Given the description of an element on the screen output the (x, y) to click on. 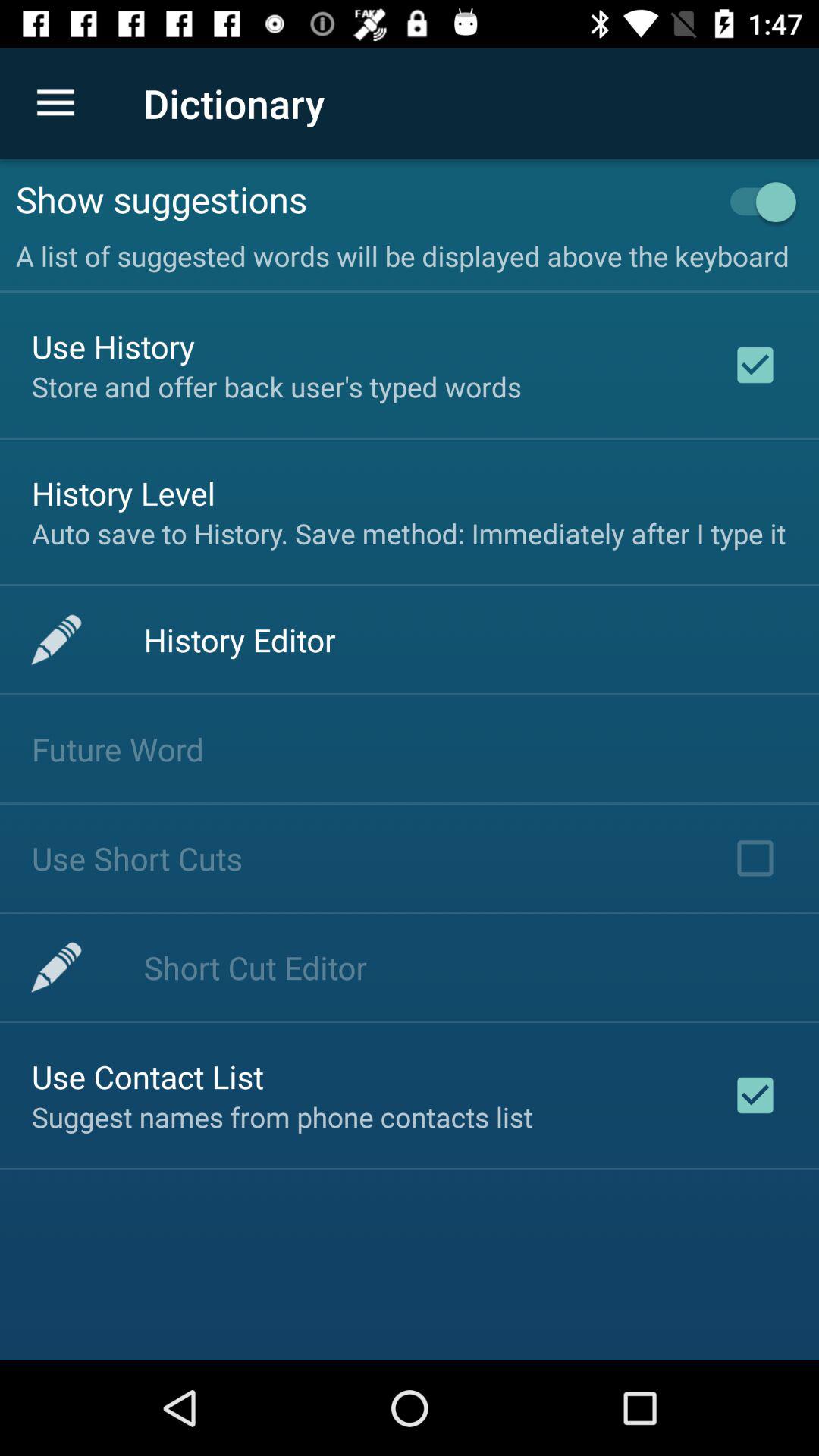
choose item below the future word (136, 857)
